Given the description of an element on the screen output the (x, y) to click on. 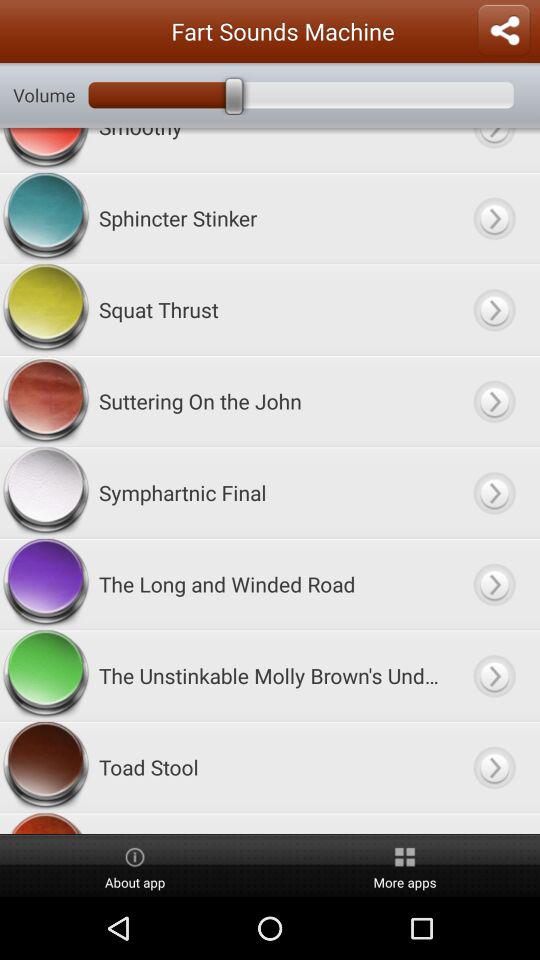
jump until symphartnic final item (269, 492)
